Given the description of an element on the screen output the (x, y) to click on. 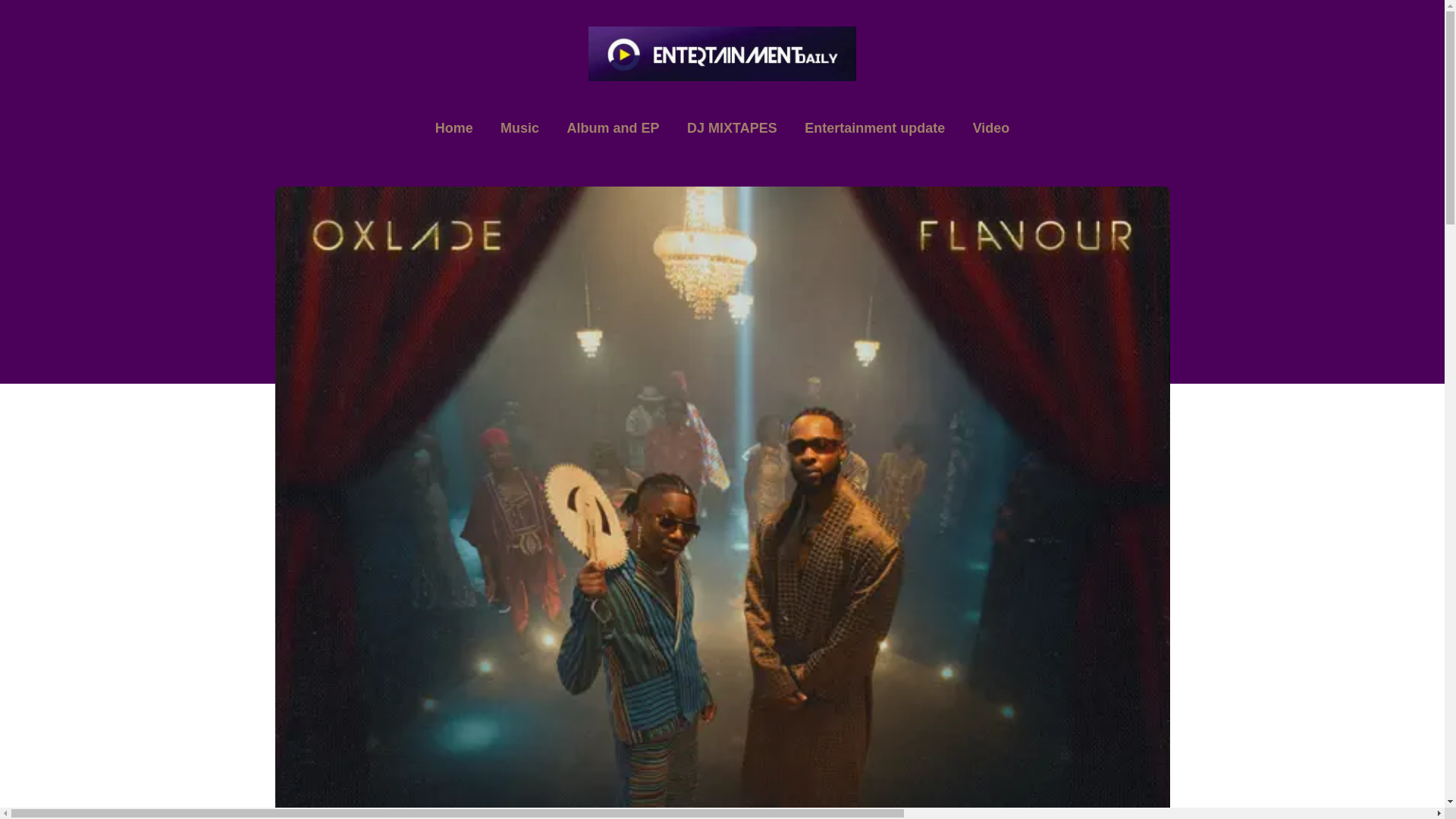
Music (519, 128)
Album and EP (612, 128)
Video (991, 128)
Home (453, 128)
Entertainment update (874, 128)
DJ MIXTAPES (732, 128)
